Given the description of an element on the screen output the (x, y) to click on. 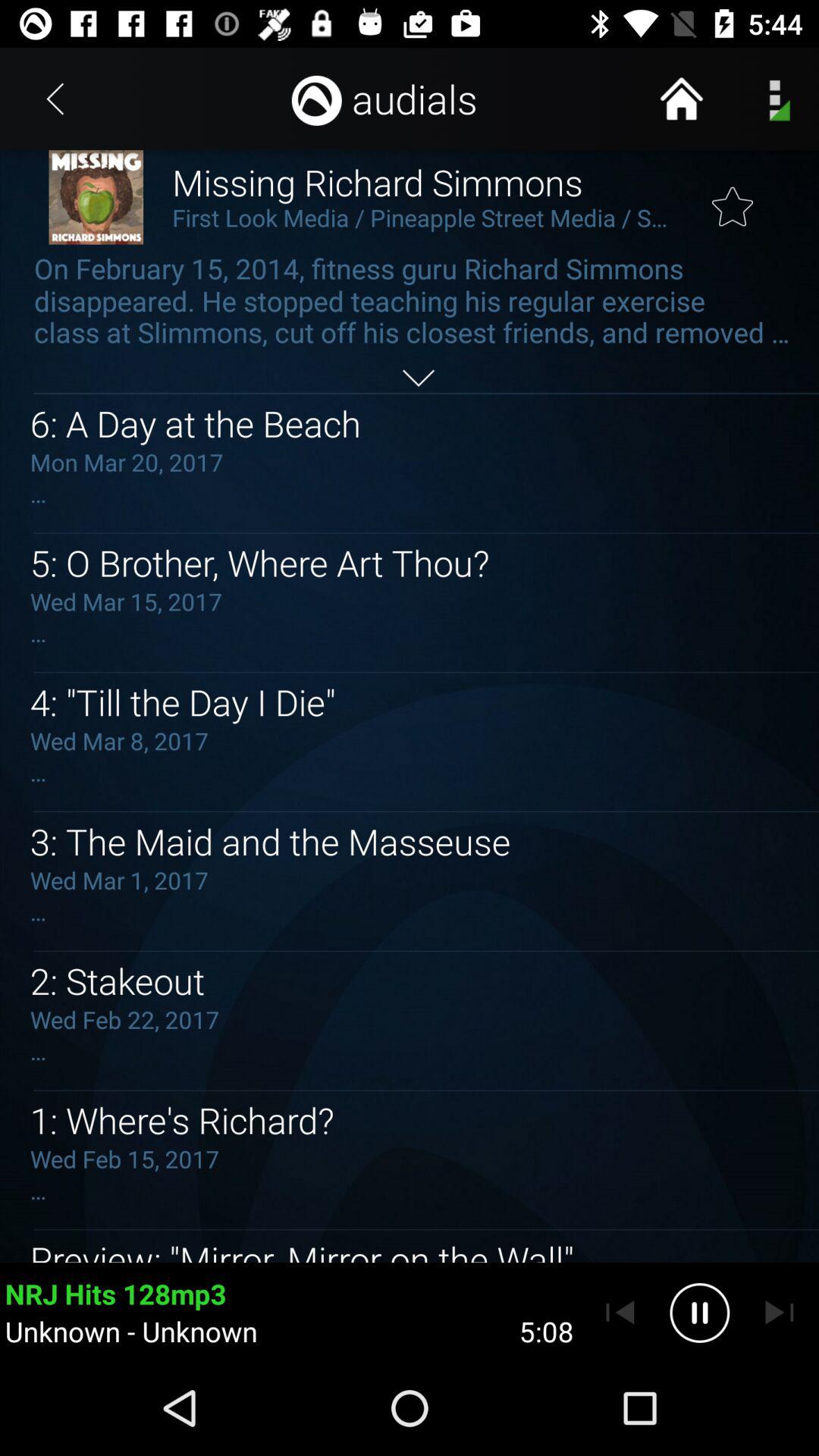
previous song (619, 1312)
